Given the description of an element on the screen output the (x, y) to click on. 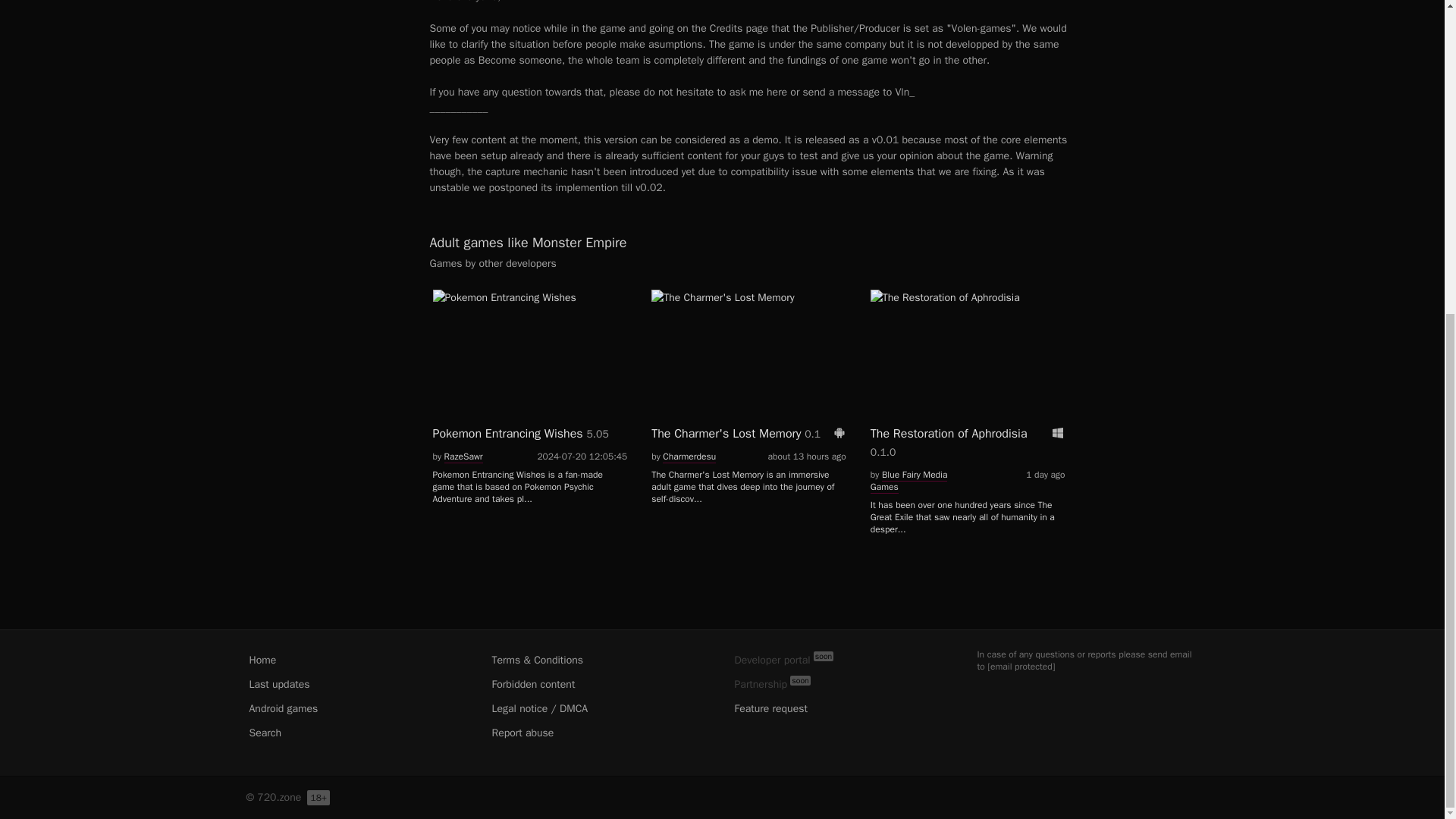
Available for windows (1057, 431)
The Charmer's Lost Memory (747, 353)
The Restoration of Aphrodisia (967, 353)
The Charmer's Lost Memory 0.1 (747, 367)
Pokemon Entrancing Wishes 5.05 (529, 367)
The Restoration of Aphrodisia 0.1.0 (967, 377)
Charmerdesu (689, 455)
Pokemon Entrancing Wishes (529, 353)
Available for android (839, 431)
Blue Fairy Media Games (908, 480)
RazeSawr (463, 455)
